Given the description of an element on the screen output the (x, y) to click on. 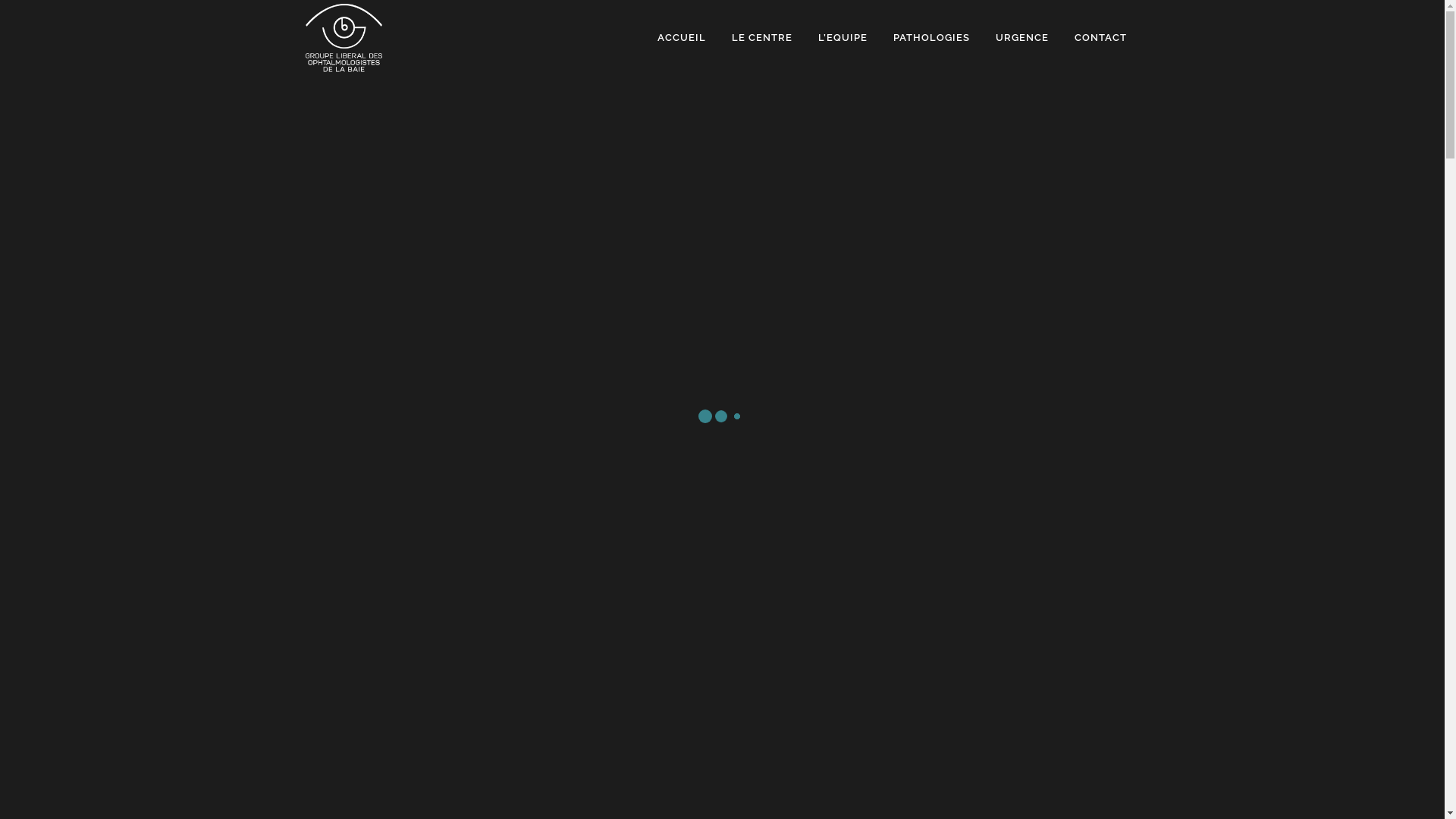
URGENCE Element type: text (1021, 37)
PATHOLOGIES Element type: text (930, 37)
ACCUEIL Element type: text (681, 37)
CONTACT Element type: text (1100, 37)
LE CENTRE Element type: text (761, 37)
